Given the description of an element on the screen output the (x, y) to click on. 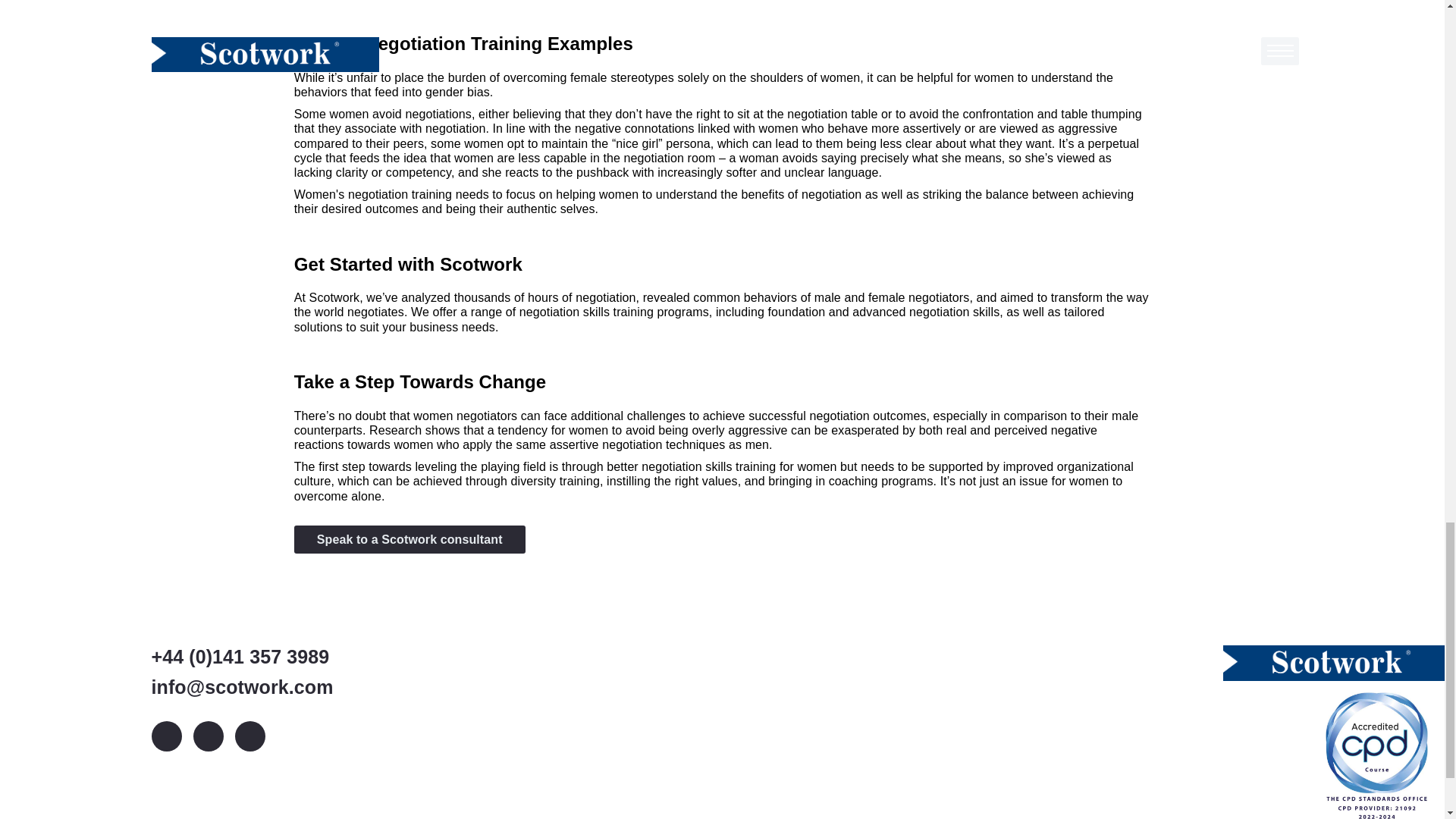
linkedin (166, 736)
Speak to a Scotwork consultant (409, 539)
twitter (207, 736)
facebook (249, 736)
